Given the description of an element on the screen output the (x, y) to click on. 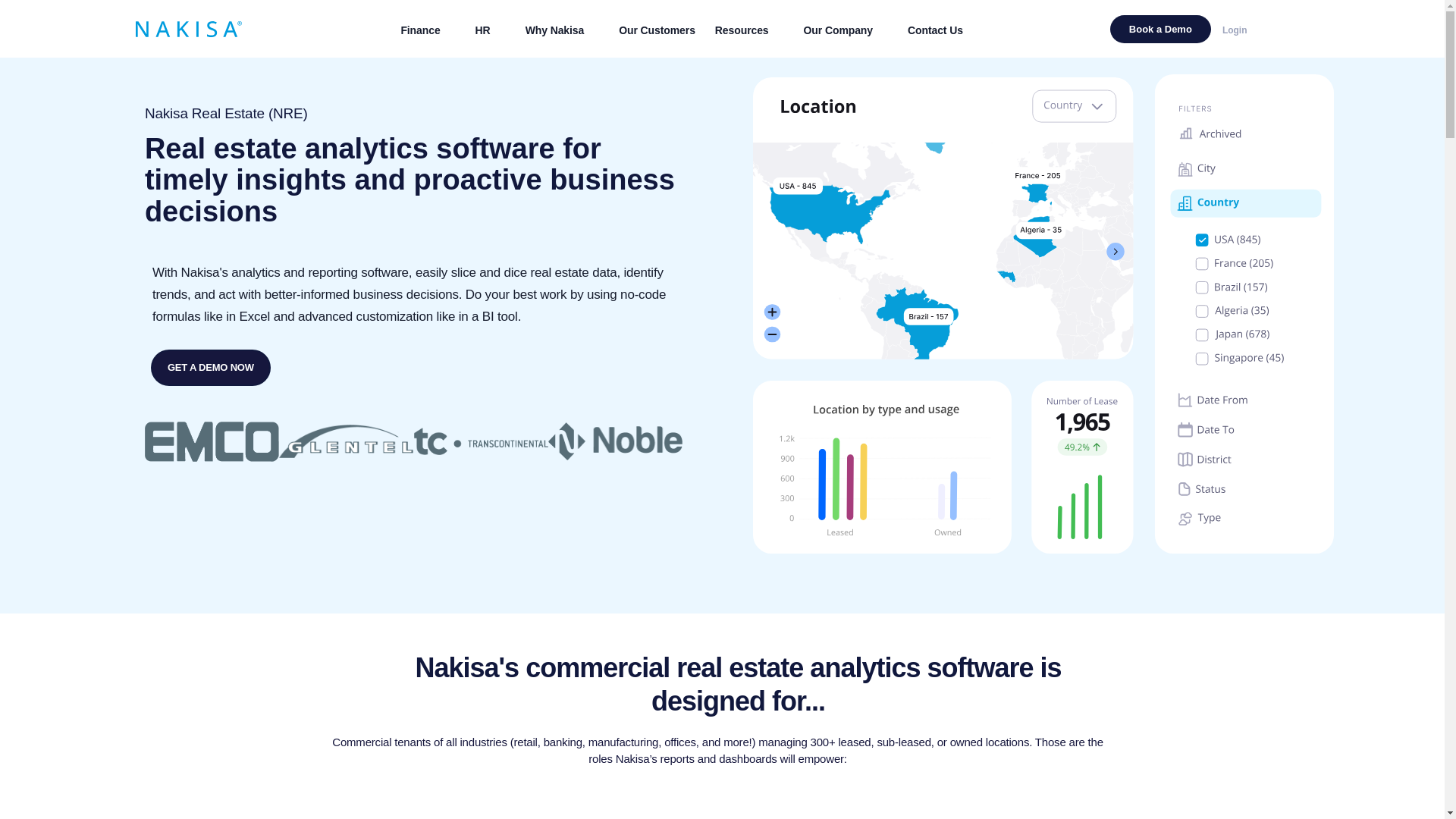
HR (490, 30)
Finance (427, 30)
Resources (748, 30)
Why Nakisa (562, 30)
Our Customers (656, 30)
